Given the description of an element on the screen output the (x, y) to click on. 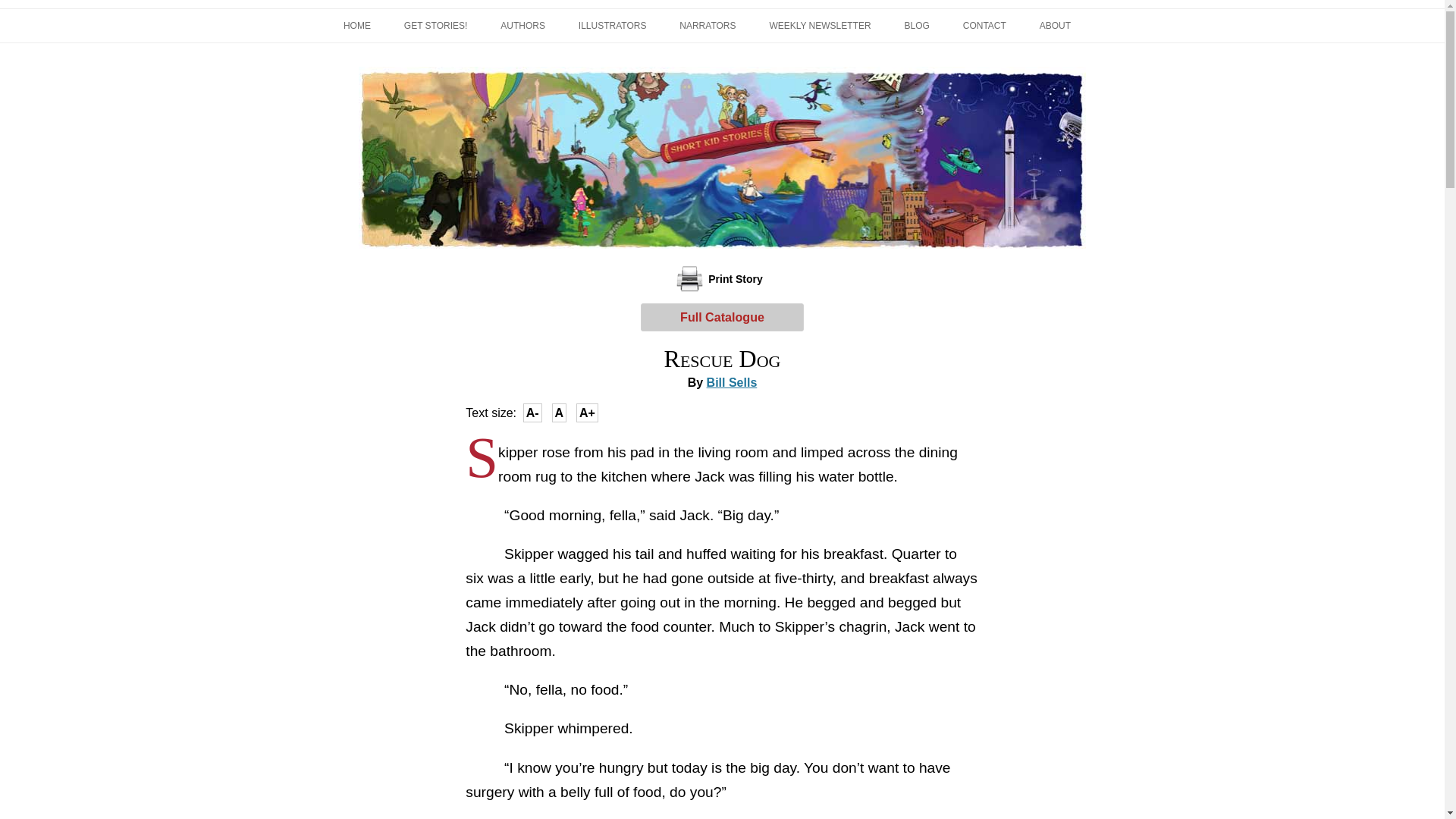
Short Kid Stories (438, 66)
NARRATORS (707, 25)
WEEKLY NEWSLETTER (819, 25)
GET STORIES! (435, 25)
Full Catalogue (721, 317)
AUTHORS (522, 25)
Skip to content (757, 13)
Short Kid Stories (438, 66)
Click to go directly to stories for kids (435, 25)
Bill Sells (731, 382)
Print Story (722, 278)
Illustrator submissions page (612, 25)
ABOUT (1054, 25)
A- (531, 412)
CONTACT (984, 25)
